Given the description of an element on the screen output the (x, y) to click on. 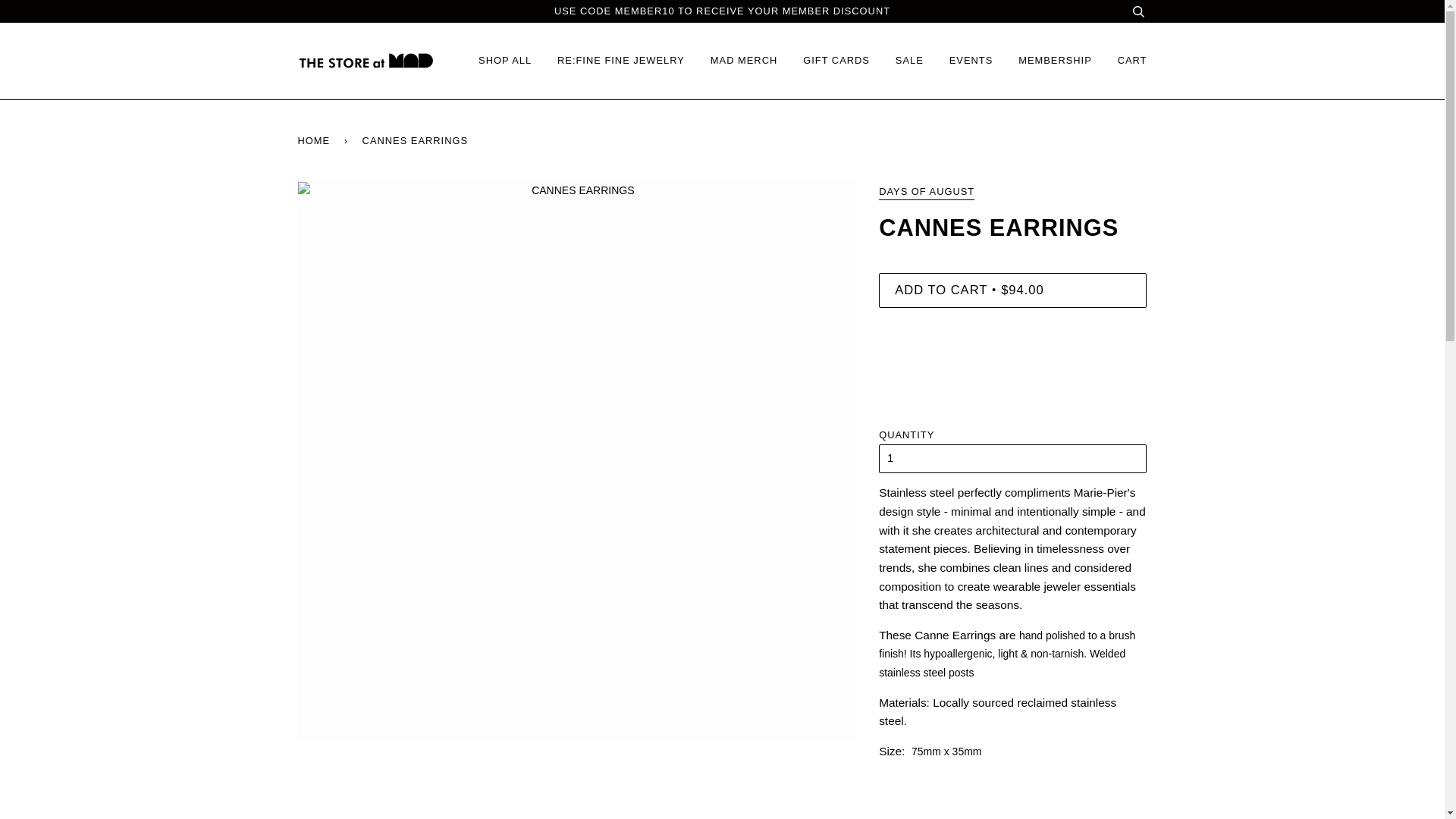
Back to the frontpage (315, 140)
1 (1013, 458)
